Given the description of an element on the screen output the (x, y) to click on. 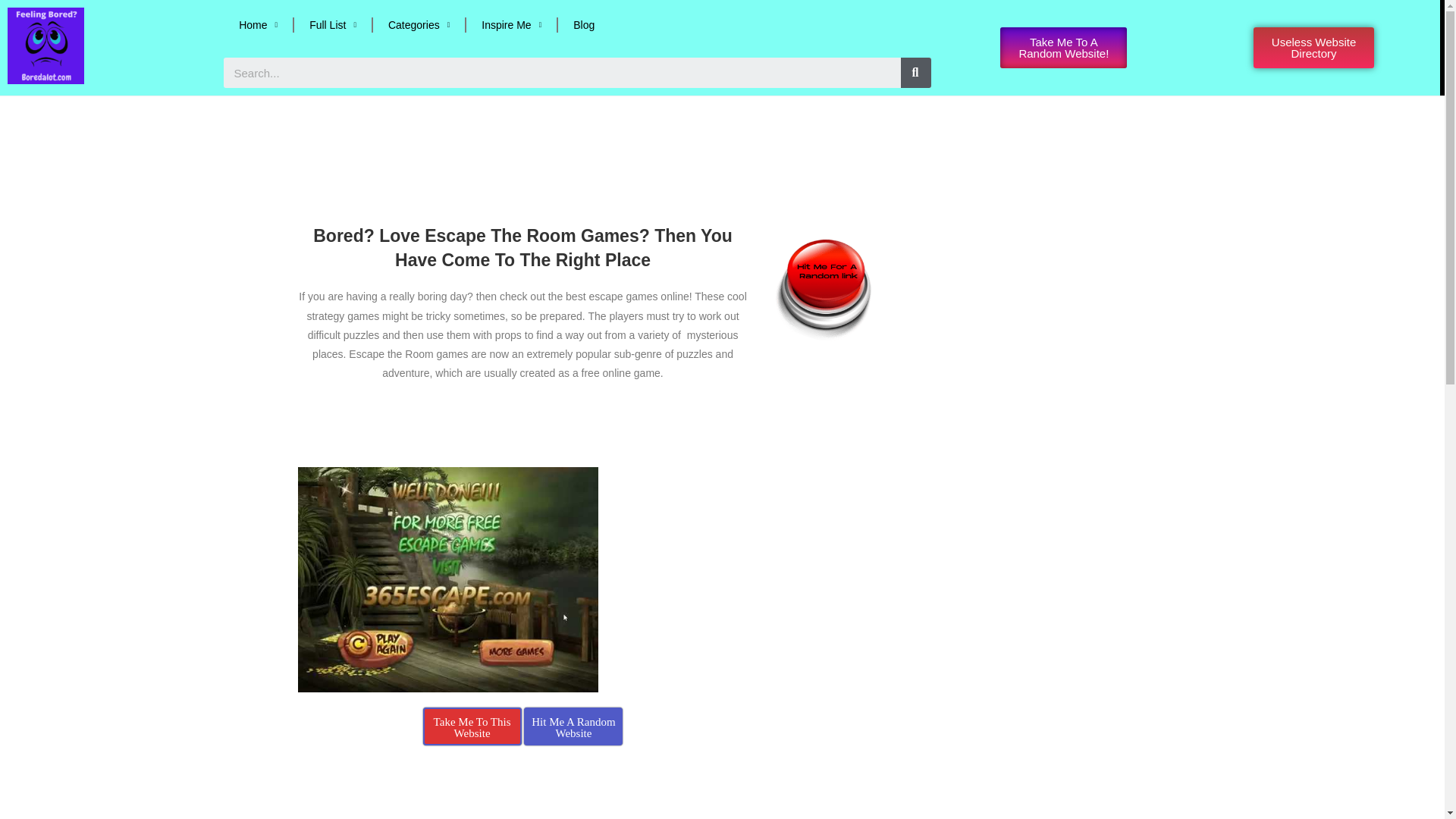
Blog (583, 24)
Inspire Me (510, 24)
Categories (418, 24)
Home (258, 24)
Search (562, 72)
Search (916, 72)
Full List (332, 24)
